Given the description of an element on the screen output the (x, y) to click on. 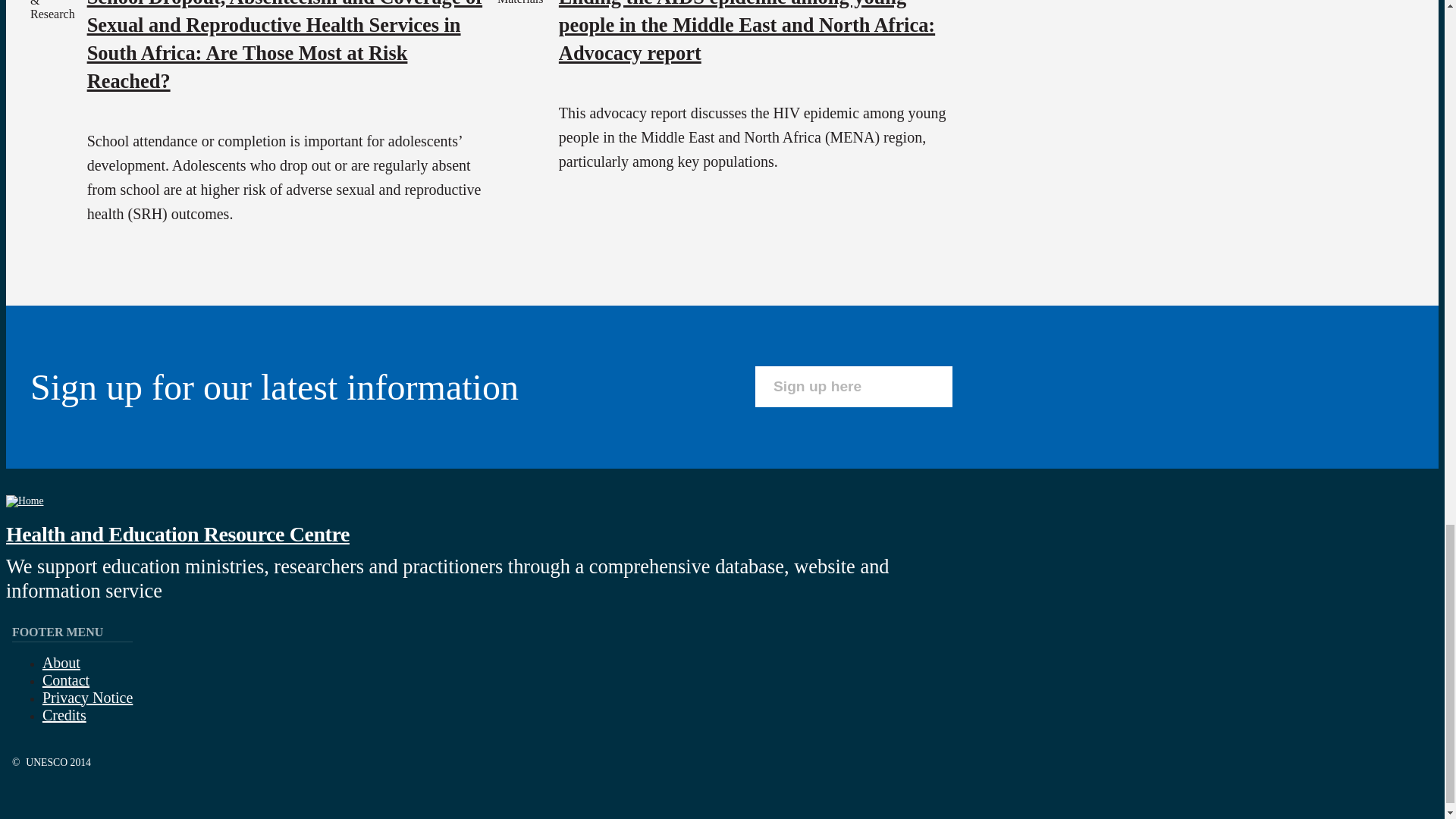
Home (177, 534)
About (61, 662)
Home (24, 500)
Health and Education Resource Centre (177, 534)
